Given the description of an element on the screen output the (x, y) to click on. 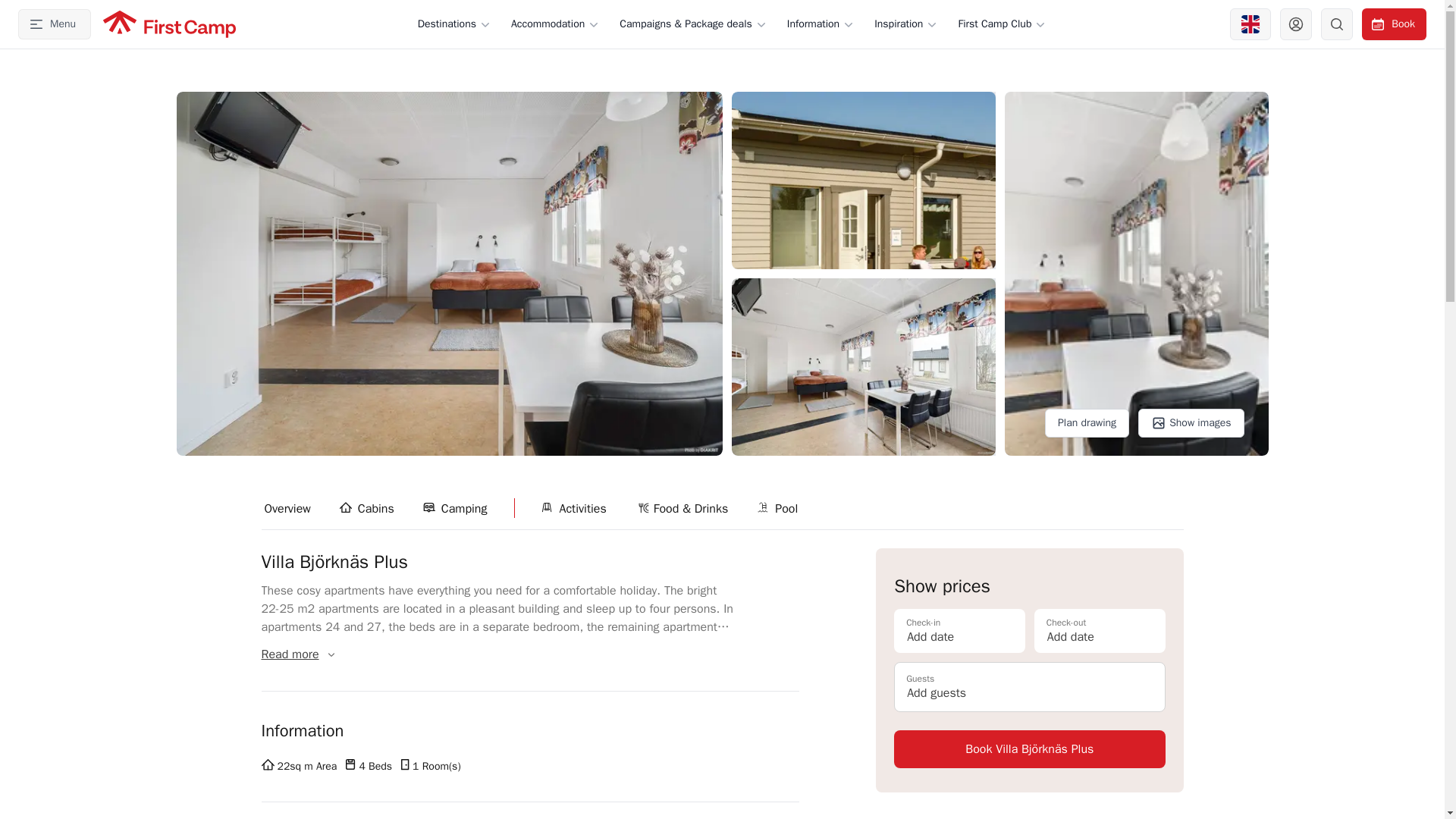
Pool (777, 507)
Read more (297, 654)
Book (1393, 24)
Cabins (367, 507)
Accommodation (556, 23)
Destinations (455, 23)
Menu (53, 24)
Add guests (1028, 686)
Guests (1028, 686)
Camping (456, 507)
